Given the description of an element on the screen output the (x, y) to click on. 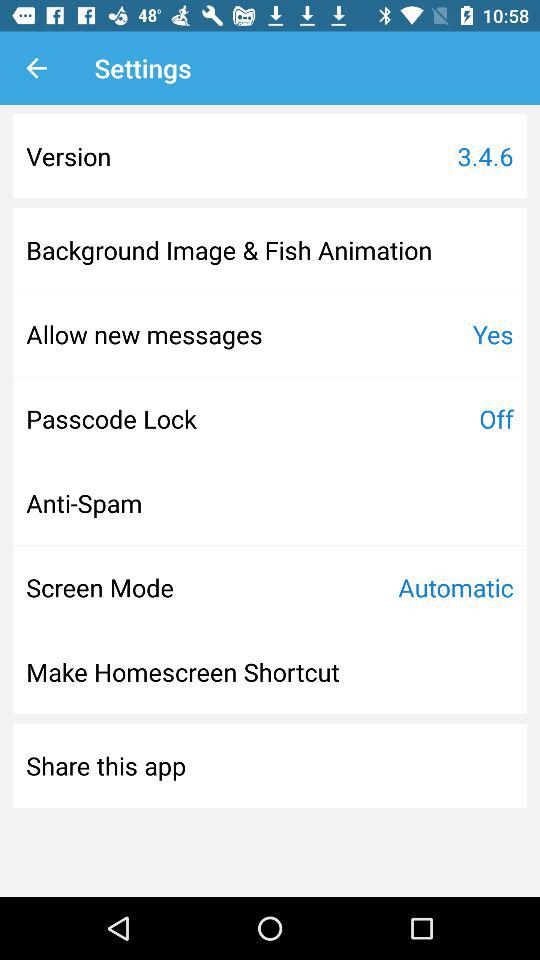
select the version item (68, 156)
